Given the description of an element on the screen output the (x, y) to click on. 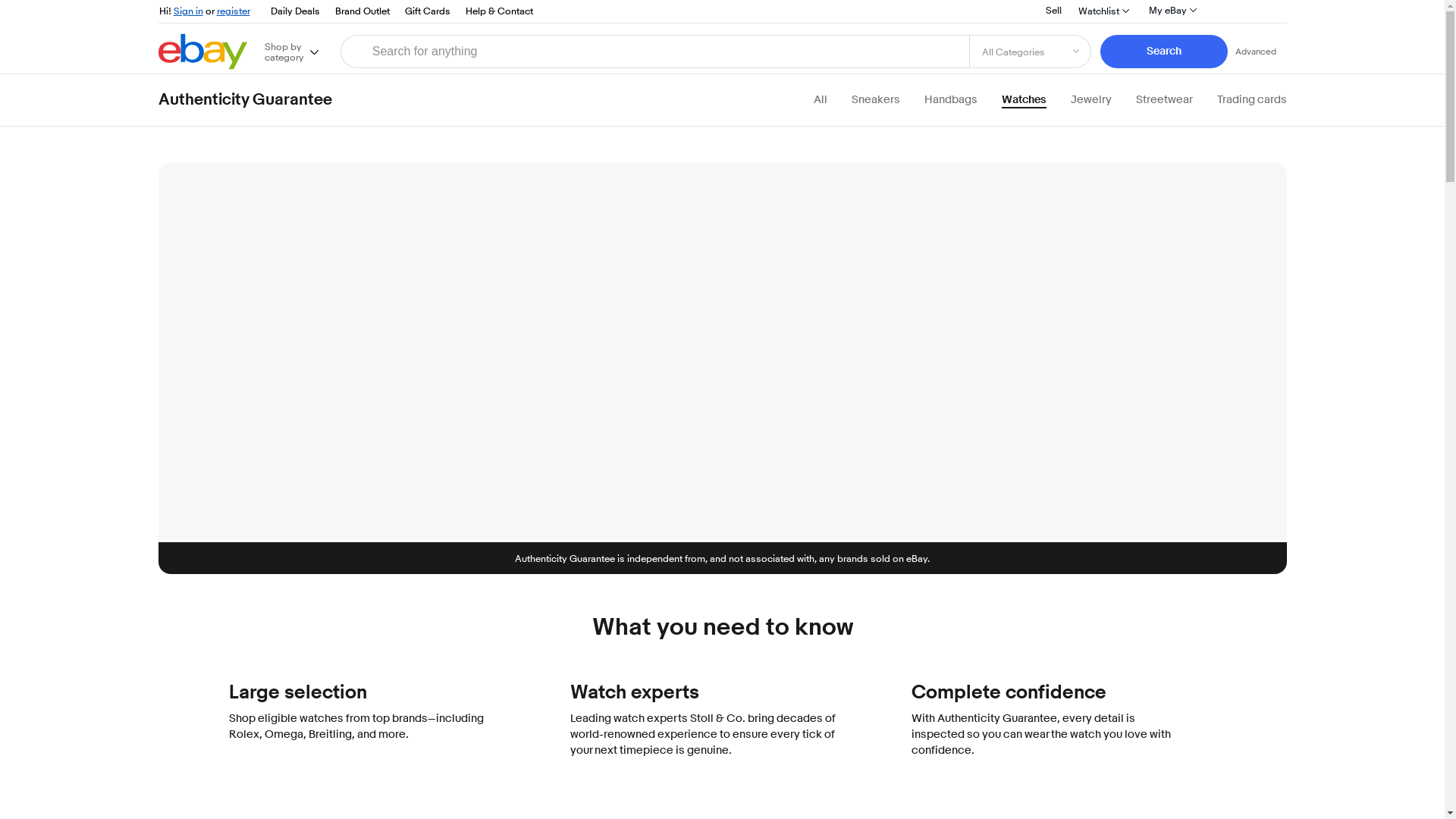
Watches (1023, 100)
Sell (1053, 9)
Sign in (187, 10)
Notifications (1226, 11)
Advanced Search (1255, 51)
Daily Deals (293, 11)
My eBay (1172, 9)
All (819, 99)
Handbags (949, 99)
Gift Cards (426, 11)
